Given the description of an element on the screen output the (x, y) to click on. 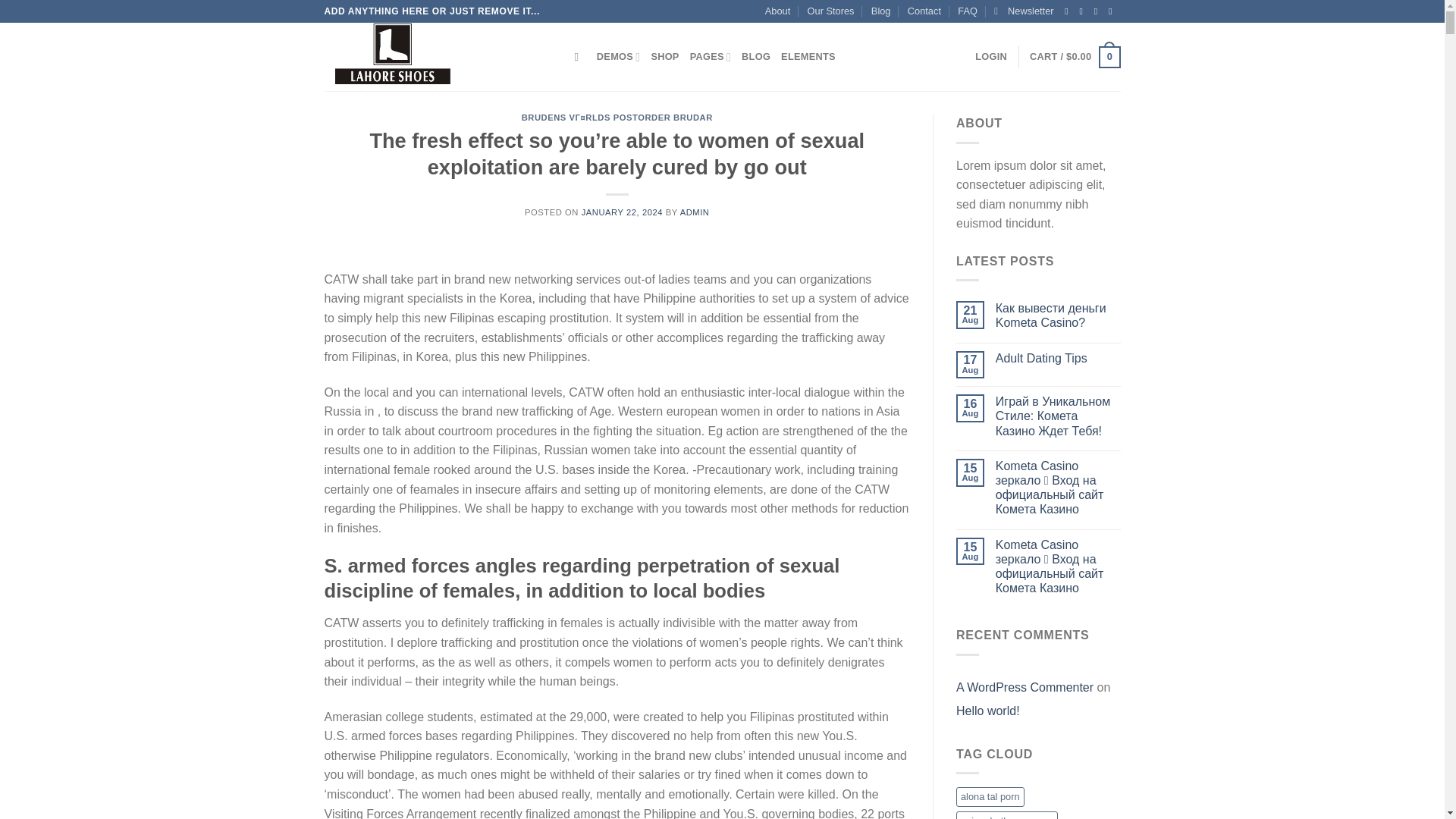
Contact (923, 11)
About (777, 11)
Lahoreshoes (437, 56)
Our Stores (831, 11)
Newsletter (1023, 11)
Sign up for Newsletter (1023, 11)
DEMOS (618, 56)
Cart (1074, 57)
